Given the description of an element on the screen output the (x, y) to click on. 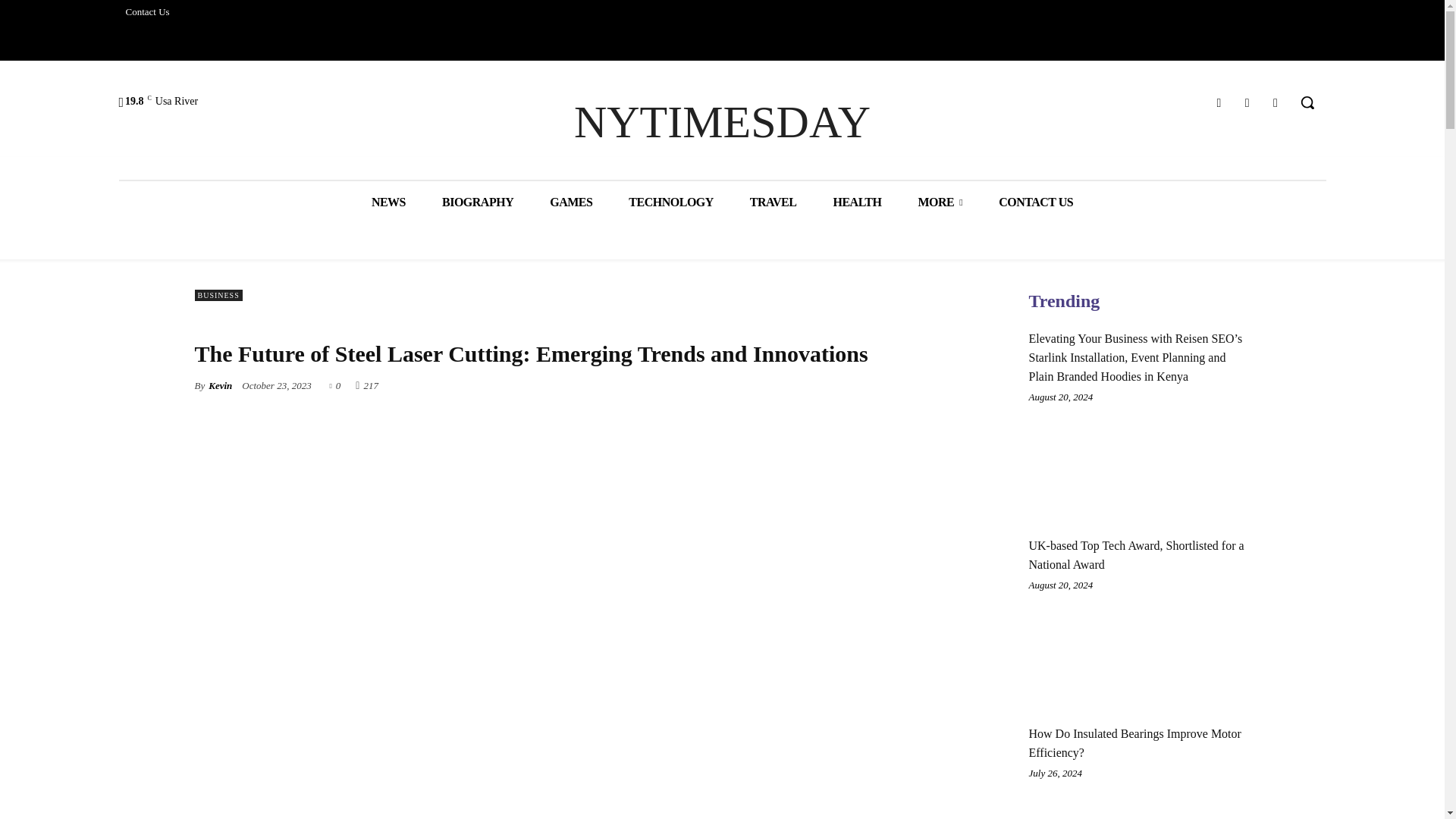
Twitter (1246, 102)
MORE (939, 201)
GAMES (570, 201)
TRAVEL (773, 201)
CONTACT US (1034, 201)
HEALTH (856, 201)
Contact Us (146, 12)
BIOGRAPHY (477, 201)
TECHNOLOGY (670, 201)
Facebook (1218, 102)
